Given the description of an element on the screen output the (x, y) to click on. 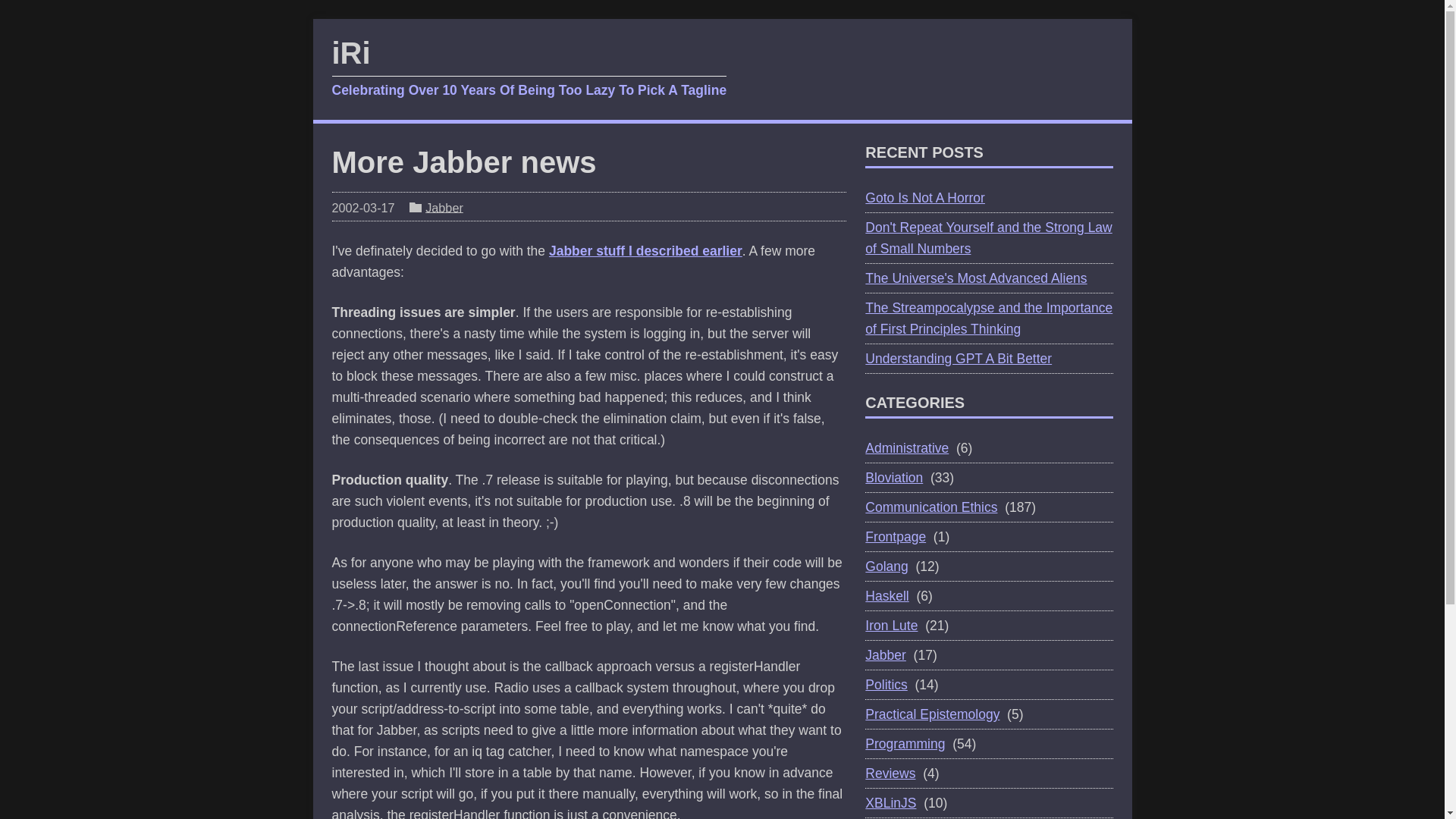
iRi (528, 68)
Practical Epistemology (931, 713)
Programming (904, 743)
Understanding GPT A Bit Better (957, 358)
The Universe's Most Advanced Aliens (975, 278)
Politics (885, 684)
Administrative (906, 447)
XBLinJS (889, 802)
Iron Lute (890, 625)
Frontpage (895, 536)
Communication Ethics (930, 507)
Bloviation (893, 477)
Golang (885, 566)
Goto Is Not A Horror (924, 197)
Don't Repeat Yourself and the Strong Law of Small Numbers (988, 238)
